Given the description of an element on the screen output the (x, y) to click on. 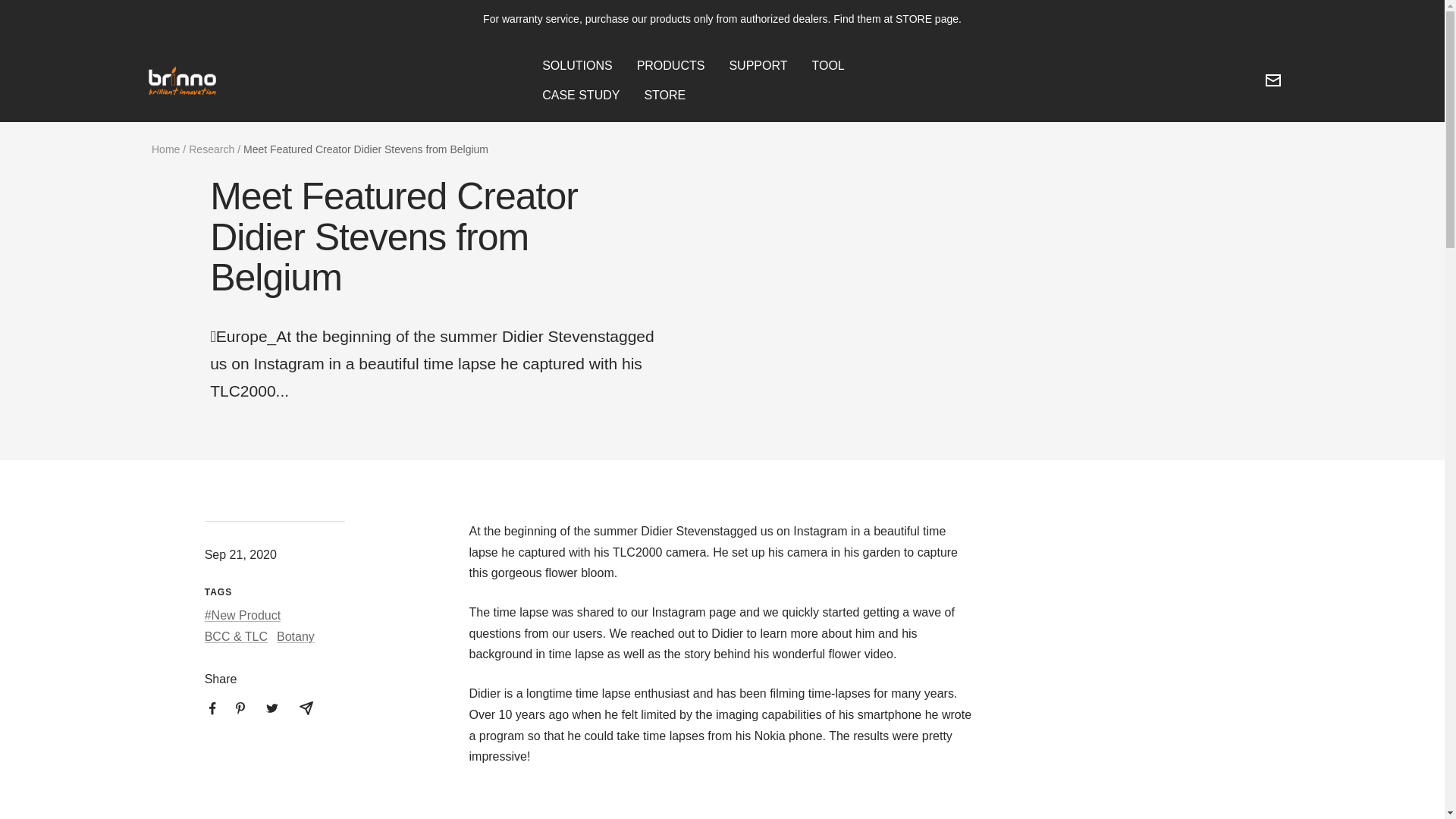
SOLUTIONS (576, 65)
brinno-mkt (180, 81)
SUPPORT (758, 65)
CASE STUDY (580, 96)
Newsletter (1273, 80)
PRODUCTS (670, 65)
STORE (664, 96)
TOOL (827, 65)
